Given the description of an element on the screen output the (x, y) to click on. 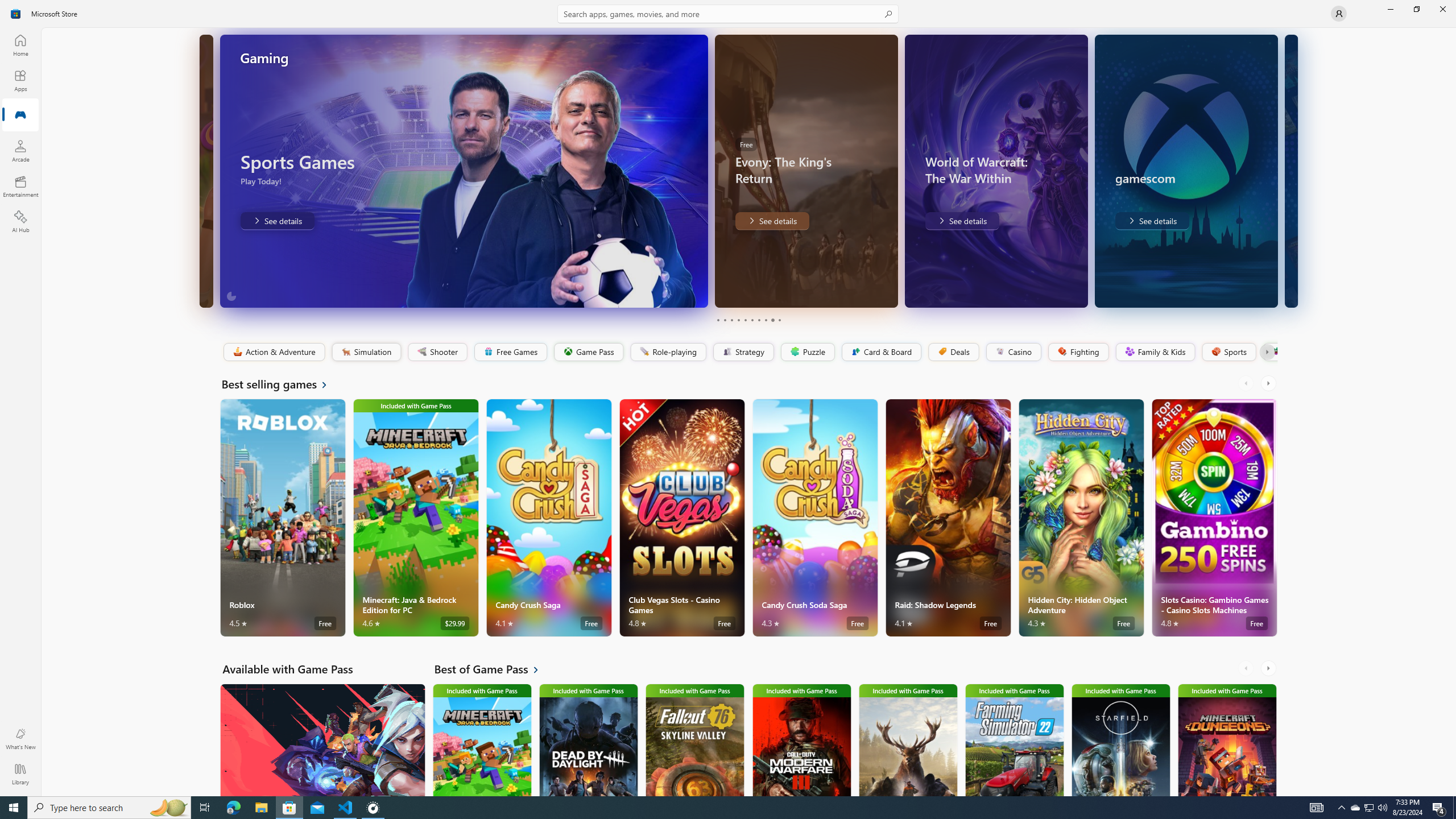
Sports (1228, 352)
Home (20, 45)
Page 2 (724, 319)
Page 8 (764, 319)
Restore Microsoft Store (1416, 9)
Simulation (365, 352)
AutomationID: Image (1290, 170)
Sports Games. Play Today!.  . See details (277, 221)
Strategy (742, 352)
Pager (748, 319)
Close Microsoft Store (1442, 9)
Unmute (881, 291)
